Given the description of an element on the screen output the (x, y) to click on. 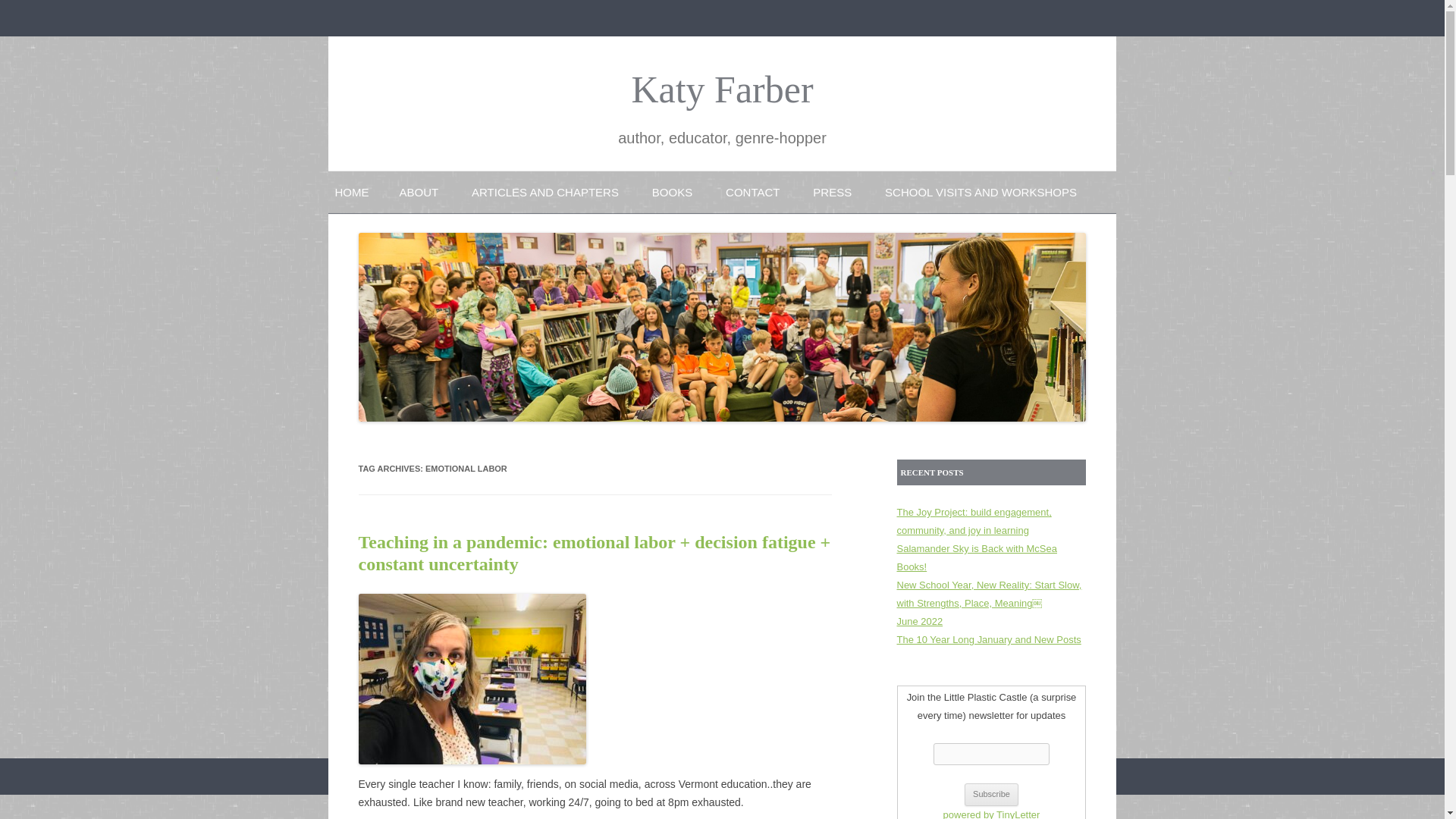
SCHOOL VISITS AND WORKSHOPS (981, 191)
PROFESSIONAL DEVELOPMENT (960, 228)
PERSONALIZED LEARNING IN THE MIDDLE GRADES (727, 237)
PRESS (831, 191)
ARTICLES AND CHAPTERS (544, 191)
Katy Farber (721, 89)
CONTACT (751, 191)
BLOGS (547, 228)
ABOUT (418, 191)
